Given the description of an element on the screen output the (x, y) to click on. 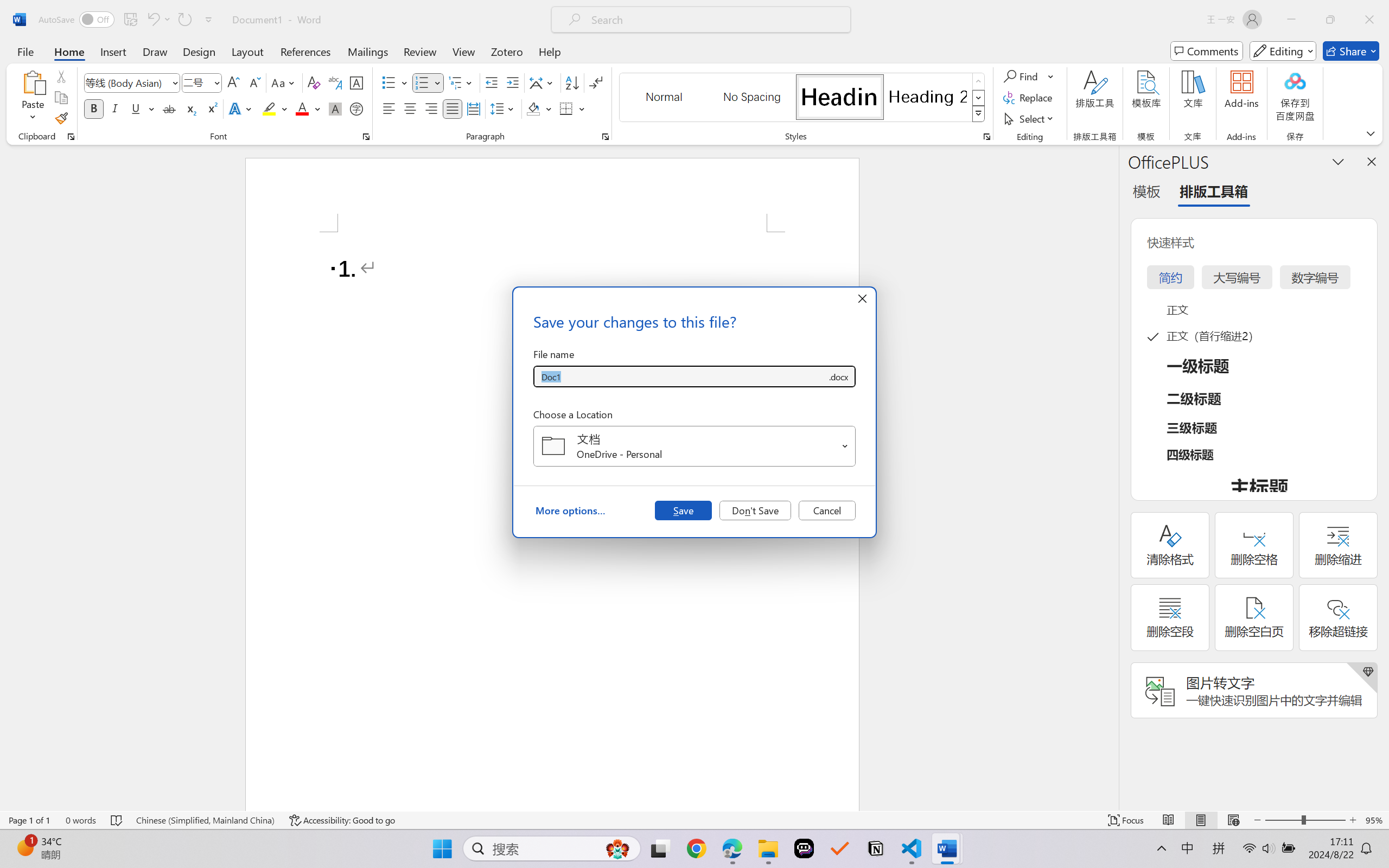
Undo Number Default (152, 19)
